Given the description of an element on the screen output the (x, y) to click on. 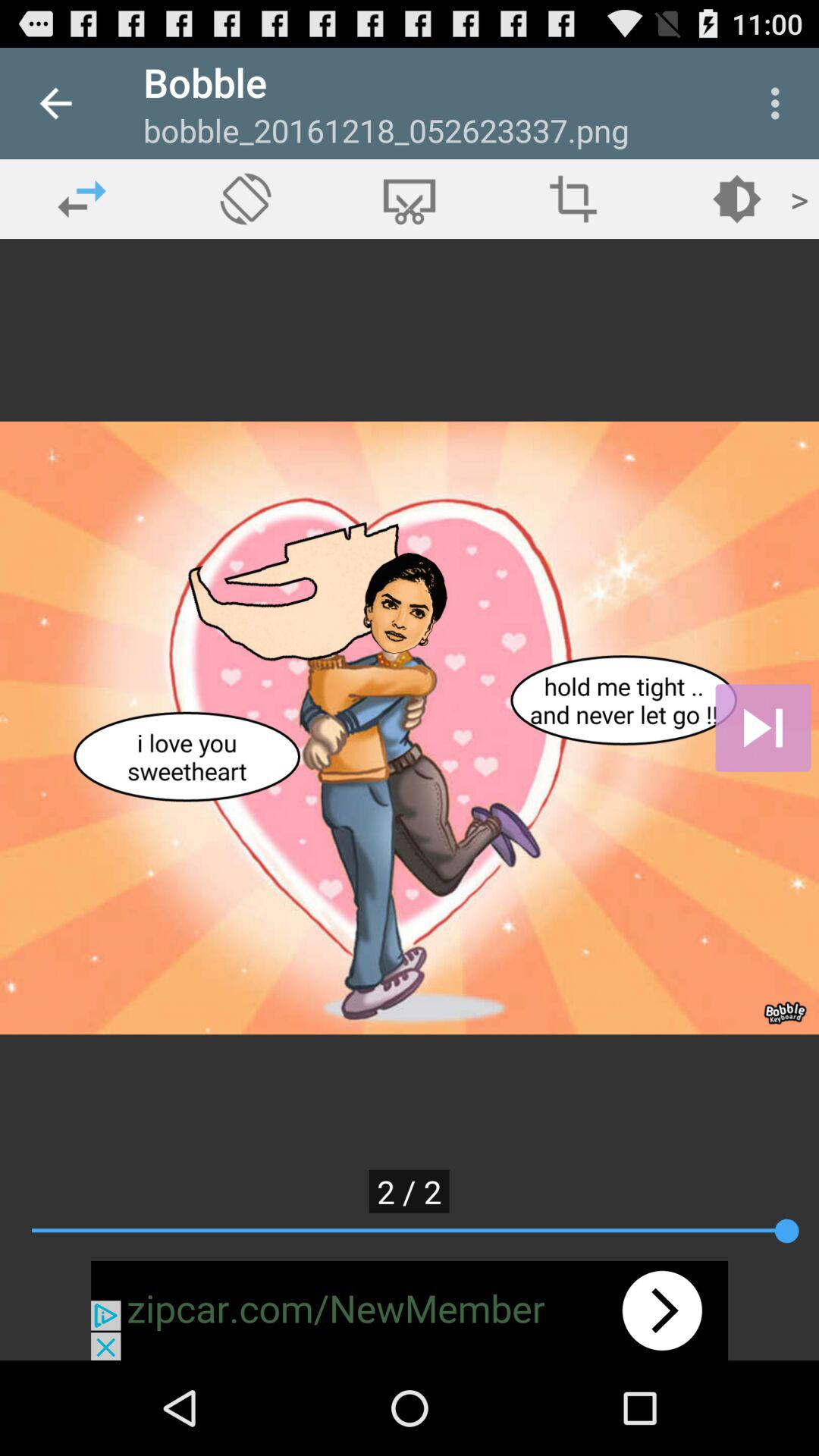
reduce size button (573, 198)
